Given the description of an element on the screen output the (x, y) to click on. 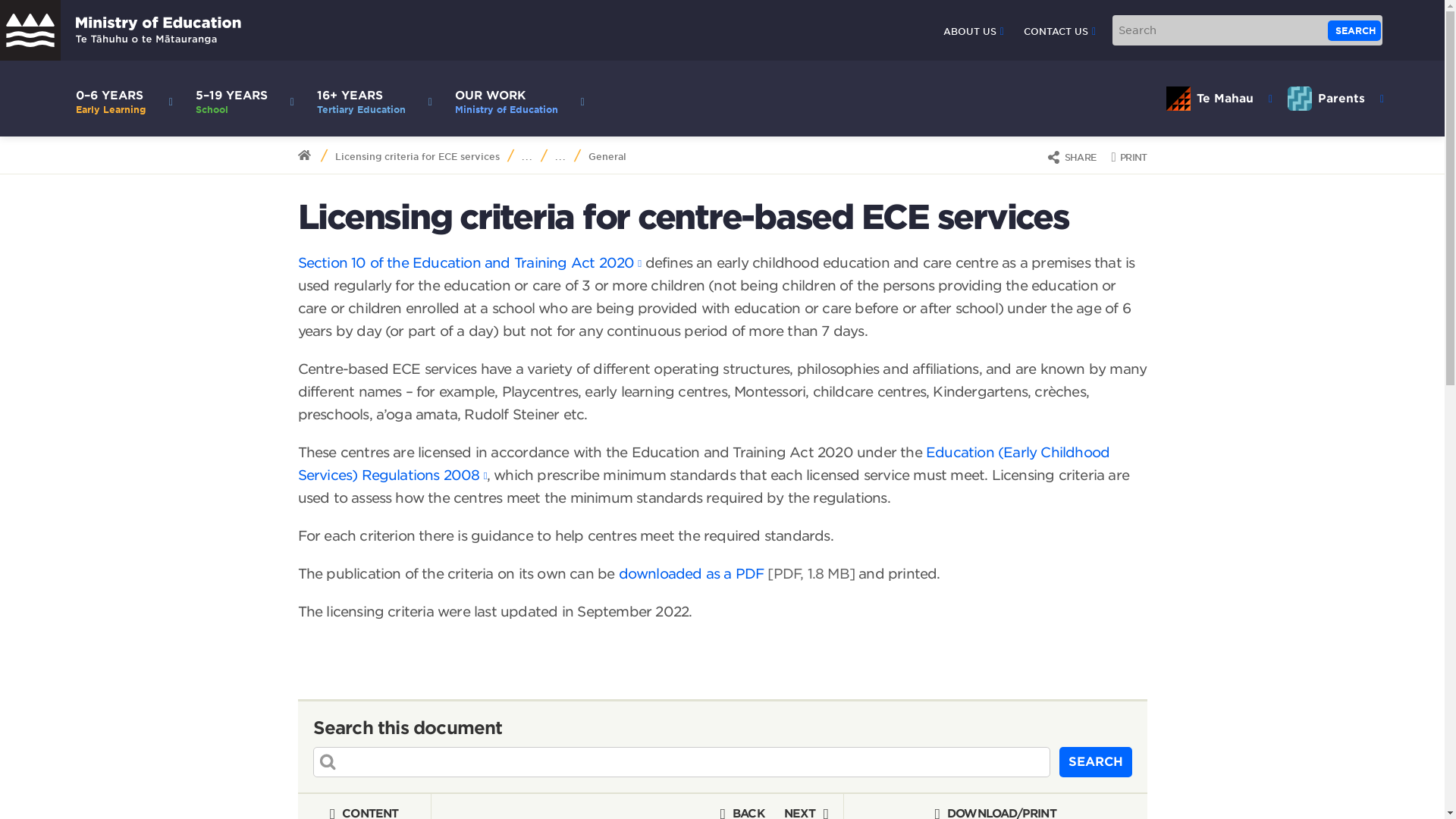
Te Mahau (1219, 98)
Link to Te Mahau website (1219, 98)
SEARCH (1353, 30)
PRINT (1128, 156)
Link to Parents website (1335, 98)
Our work - Ministry of Education (515, 98)
CONTACT US (1059, 31)
Parents (515, 98)
Link to Ministry of Education New Zealand home page. (1335, 98)
ABOUT US (120, 30)
SHARE (973, 31)
